Given the description of an element on the screen output the (x, y) to click on. 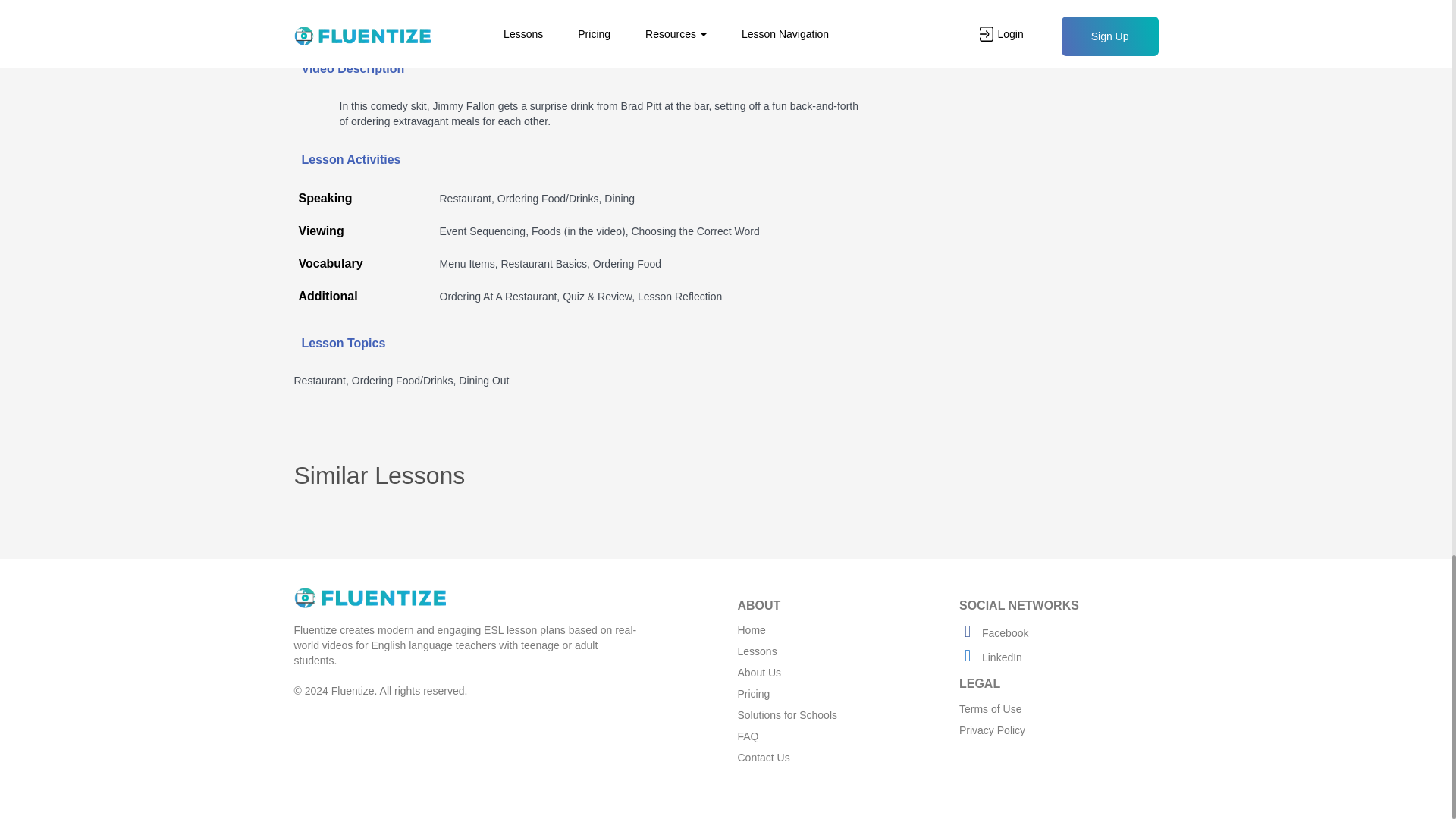
Contact Us (762, 757)
Facebook (993, 633)
Solutions for Schools (786, 715)
Pricing (753, 693)
Home (750, 630)
FAQ (747, 736)
Lessons (756, 651)
LinkedIn (990, 657)
Follow on Facebook (993, 633)
About Us (758, 672)
Terms of Use (990, 708)
Follow on Linkedin (990, 657)
